Given the description of an element on the screen output the (x, y) to click on. 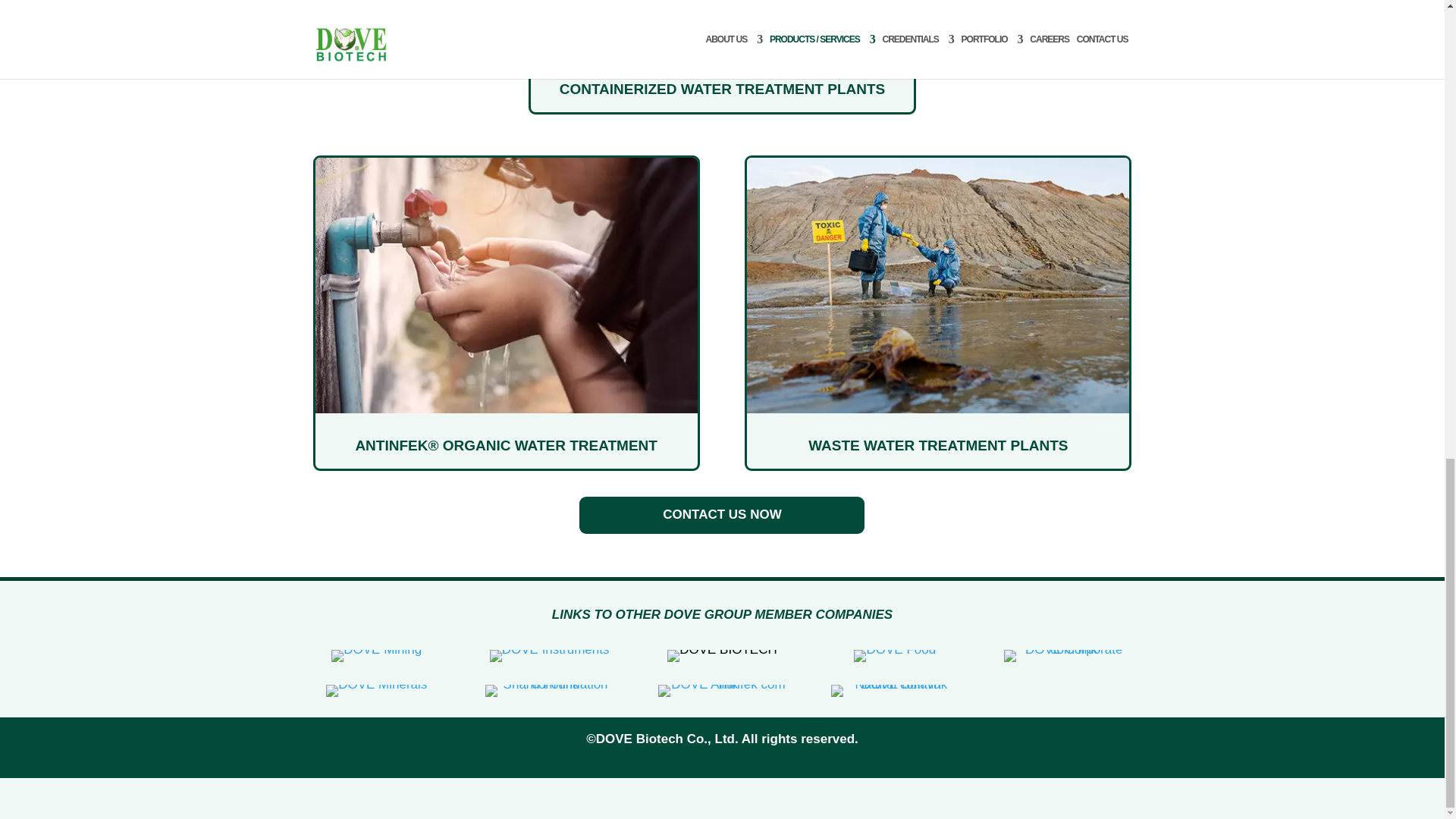
WASTE WATER TREATMENT (937, 285)
DRINKING WATER TREATMENT (506, 285)
SFNew R-Dove-Group (548, 690)
YouTube video player (721, 24)
